Given the description of an element on the screen output the (x, y) to click on. 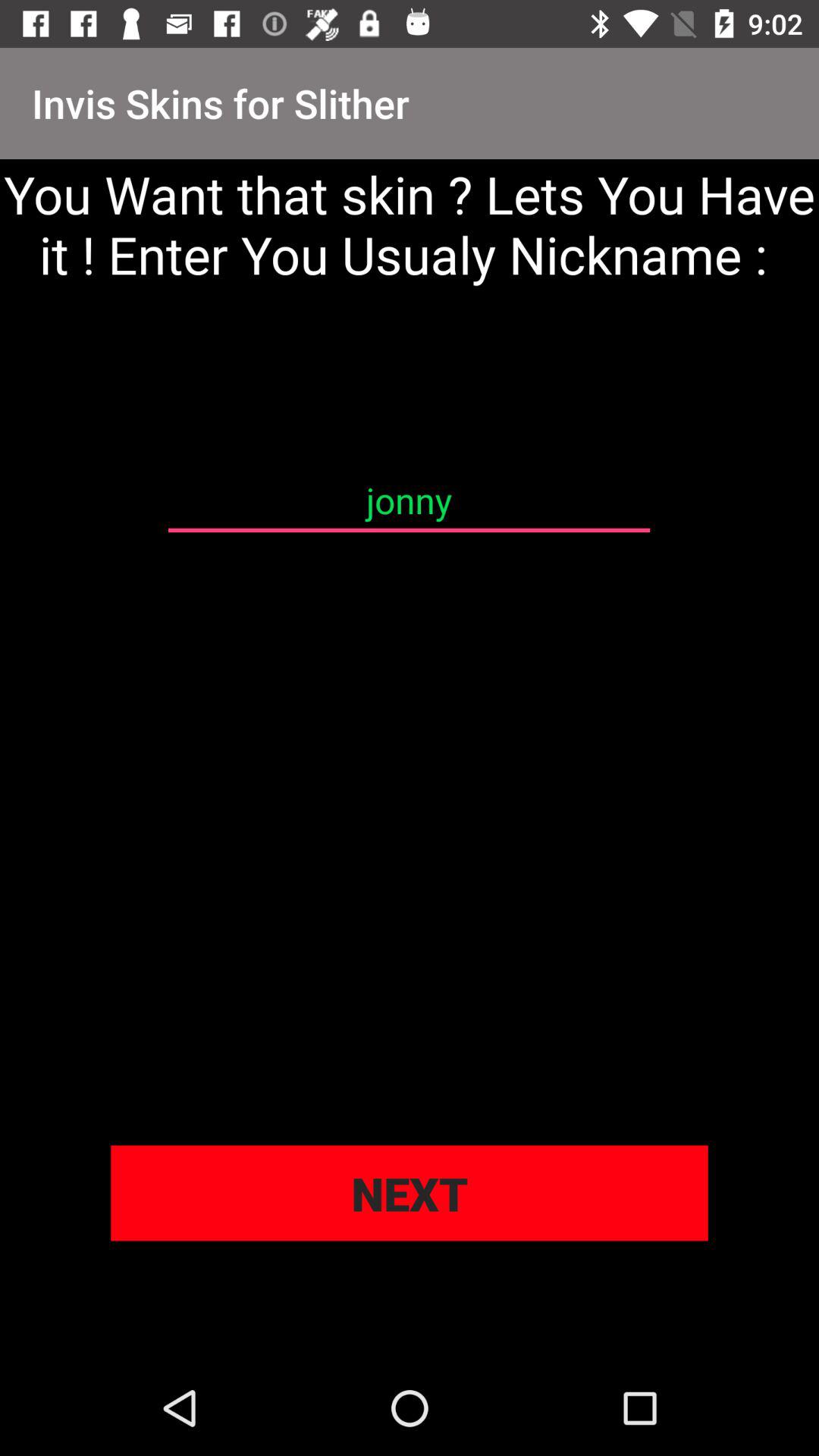
flip to the jonny item (409, 501)
